Given the description of an element on the screen output the (x, y) to click on. 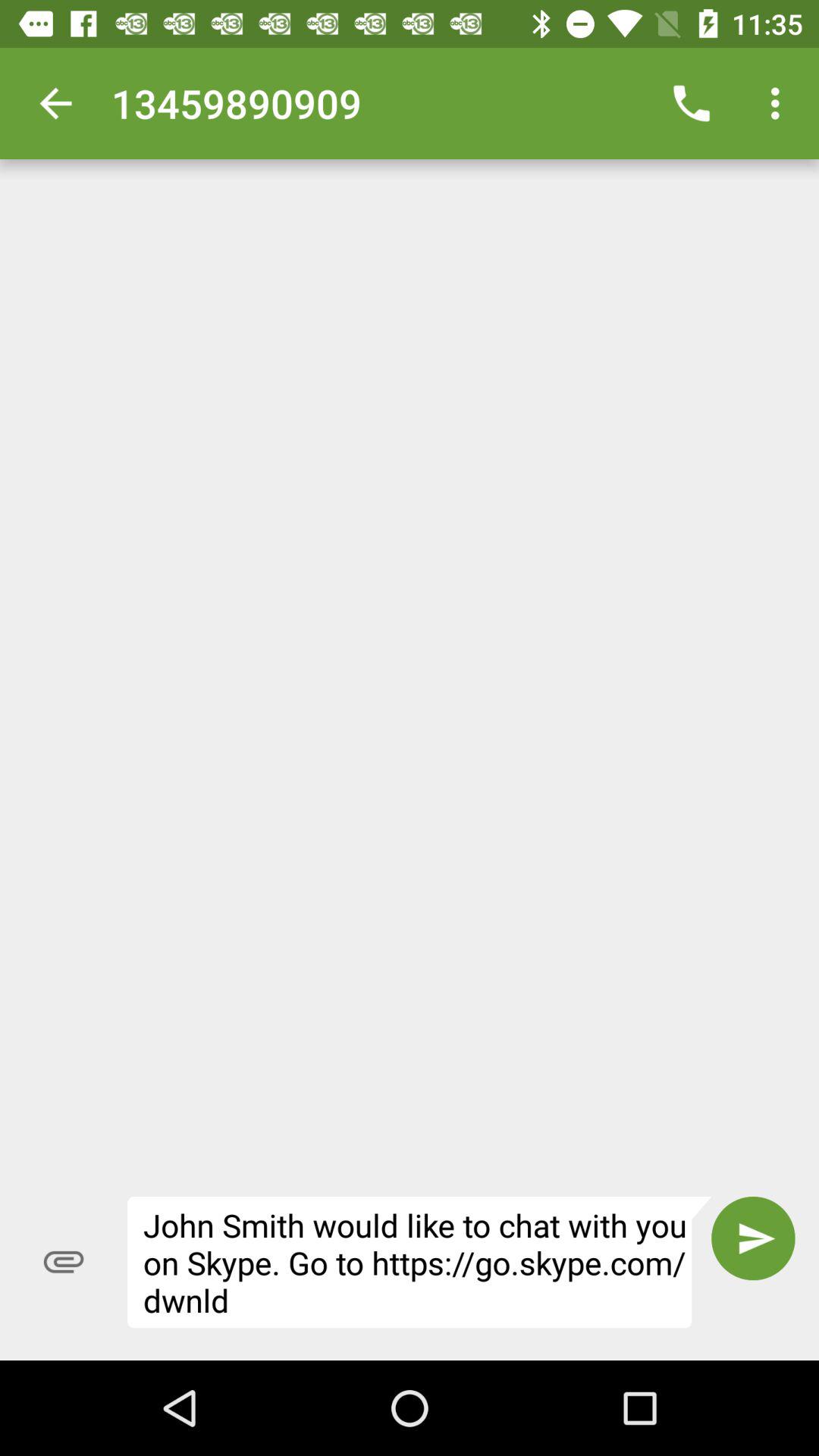
turn off the icon next to john smith would item (753, 1238)
